Given the description of an element on the screen output the (x, y) to click on. 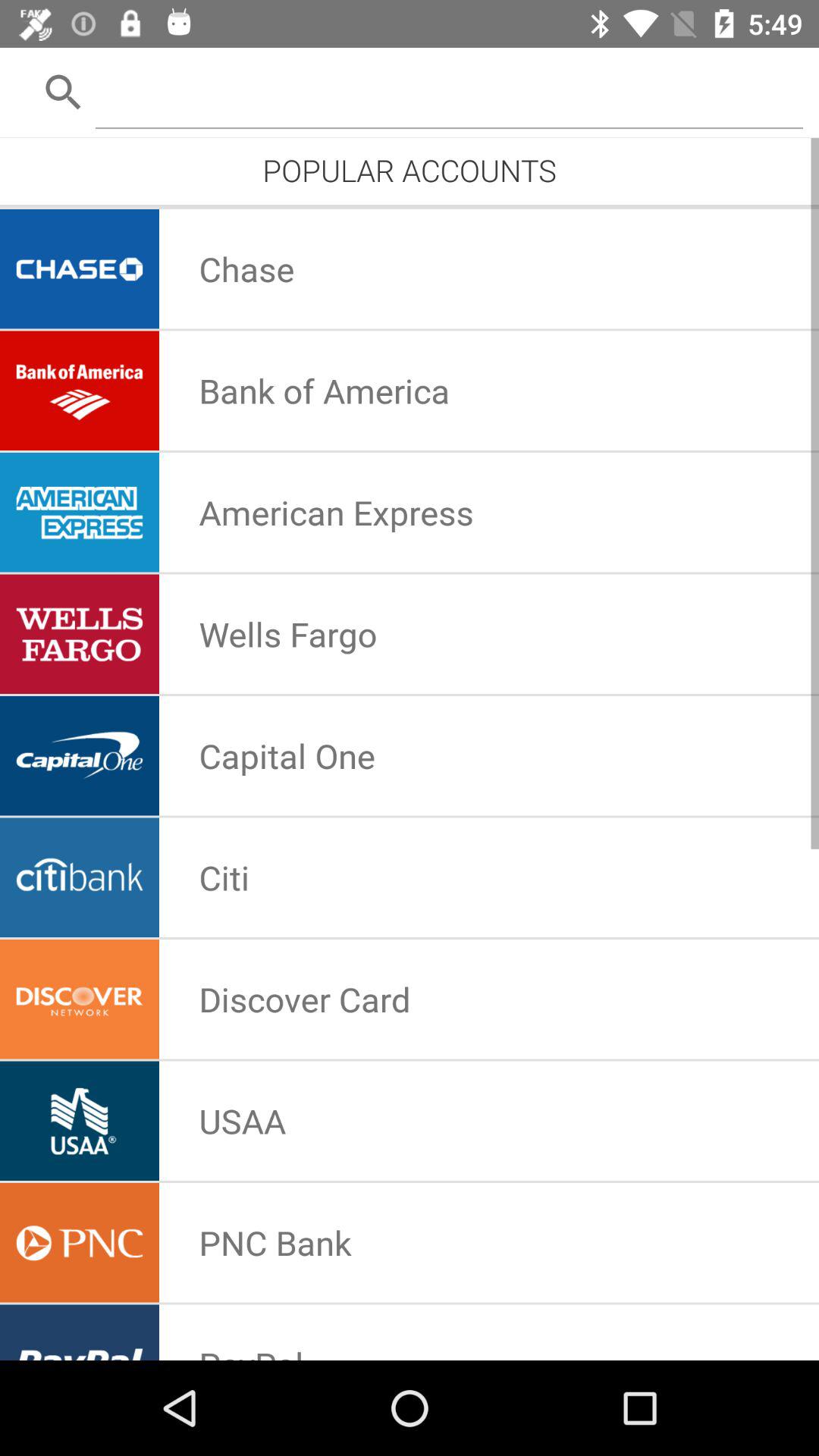
open the pnc bank icon (275, 1242)
